Given the description of an element on the screen output the (x, y) to click on. 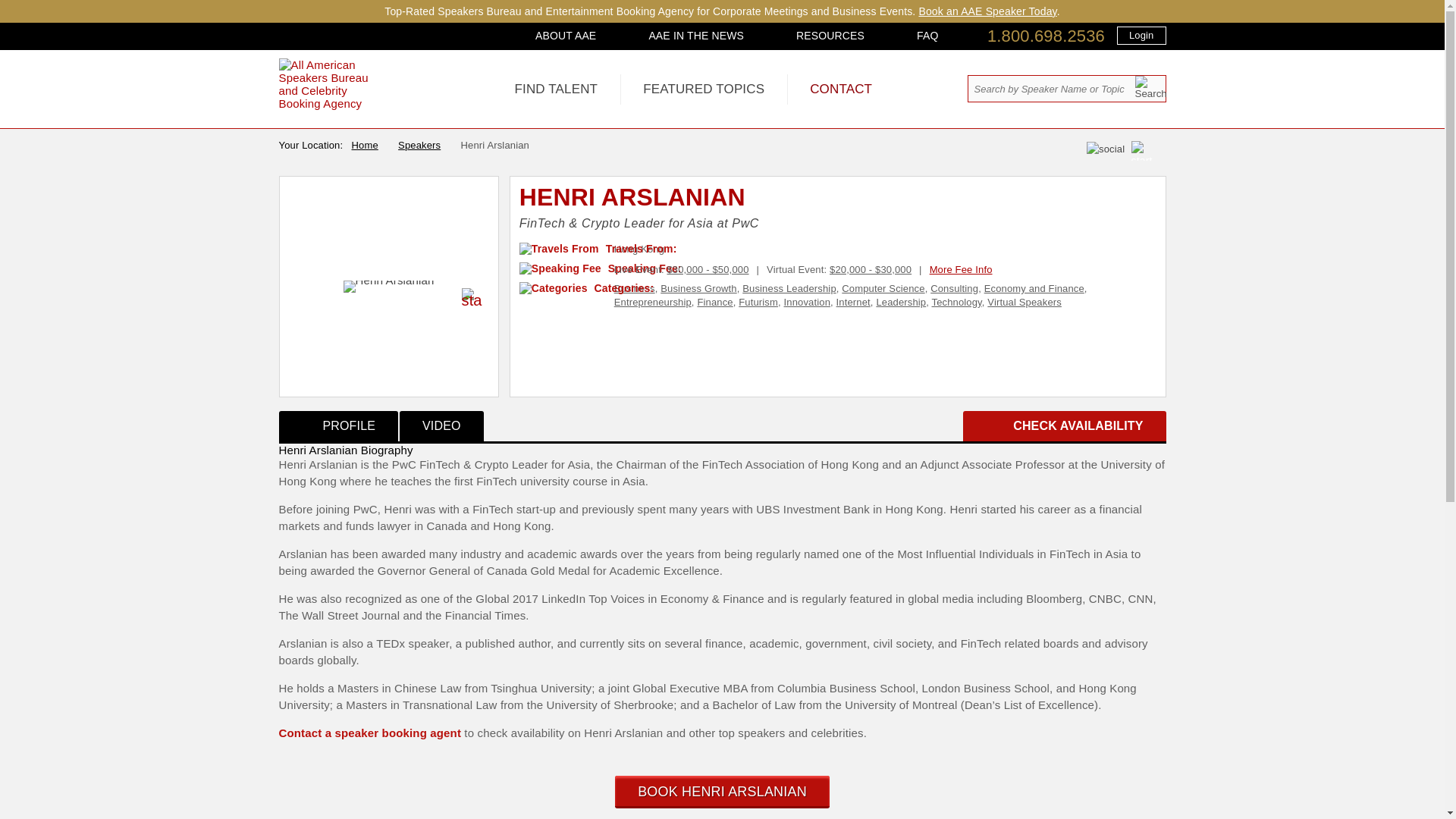
Search (1150, 87)
FAQ (927, 34)
All American Speakers Bureau and Celebrity Booking Agency (334, 103)
Book an AAE Speaker Today (987, 10)
Login (1141, 35)
1.800.698.2536 (1046, 35)
AAE IN THE NEWS (695, 34)
ABOUT AAE (565, 34)
RESOURCES (829, 34)
